Given the description of an element on the screen output the (x, y) to click on. 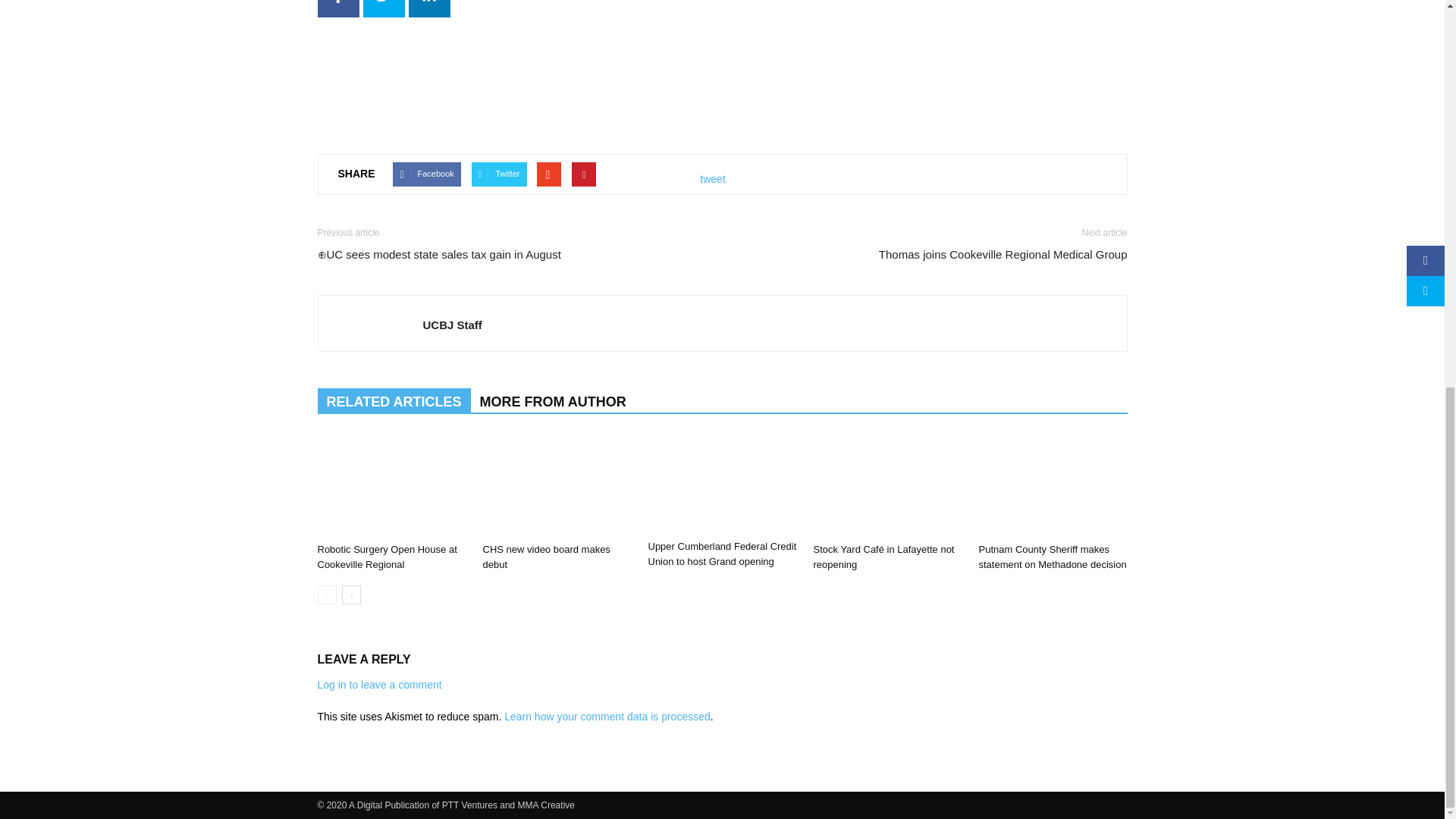
CHS new video board makes debut (545, 556)
CHS new video board makes debut (555, 485)
Robotic Surgery Open House at Cookeville Regional (387, 556)
Robotic Surgery Open House at Cookeville Regional (391, 485)
